Given the description of an element on the screen output the (x, y) to click on. 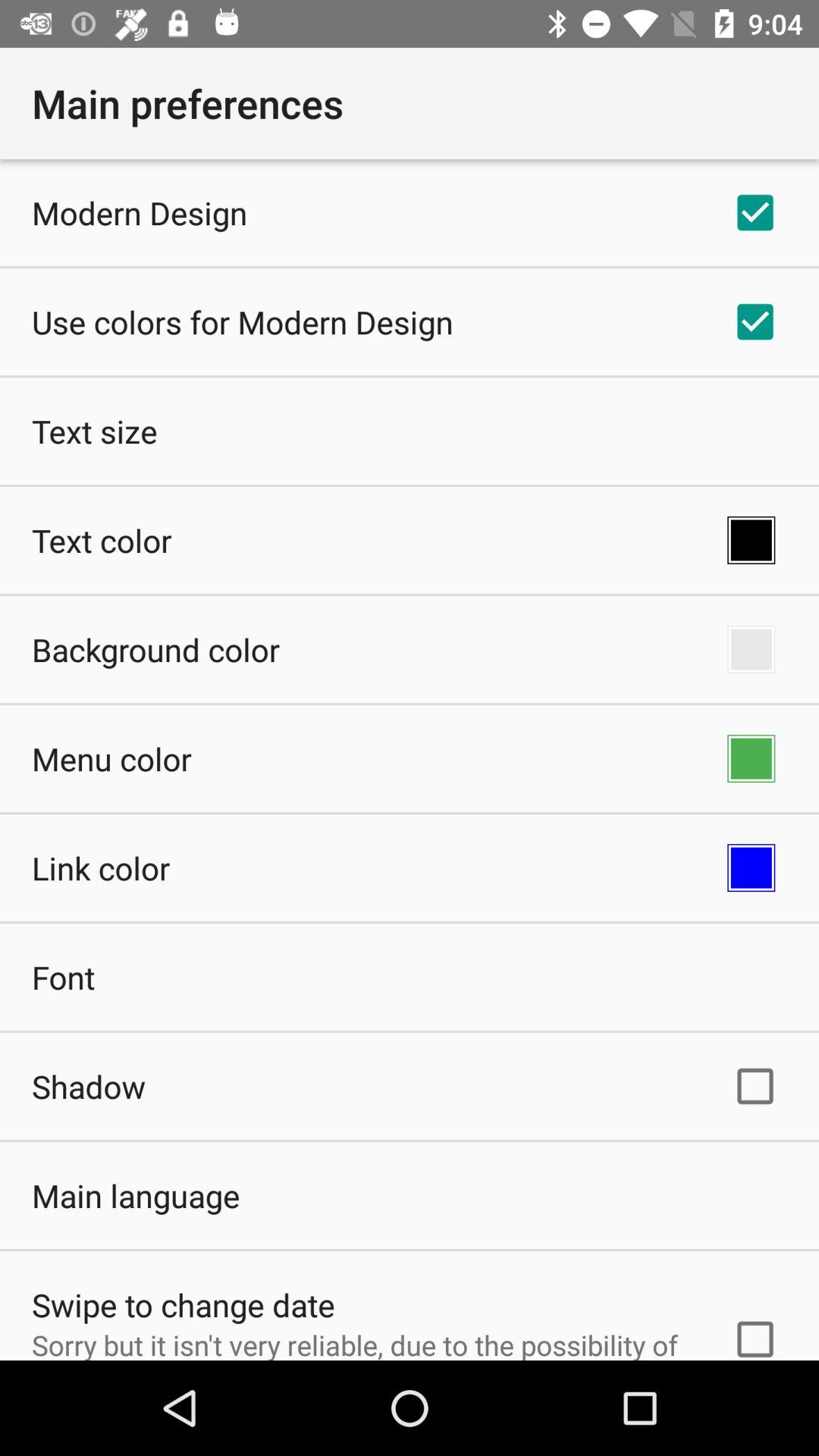
press the app below swipe to change icon (361, 1343)
